Given the description of an element on the screen output the (x, y) to click on. 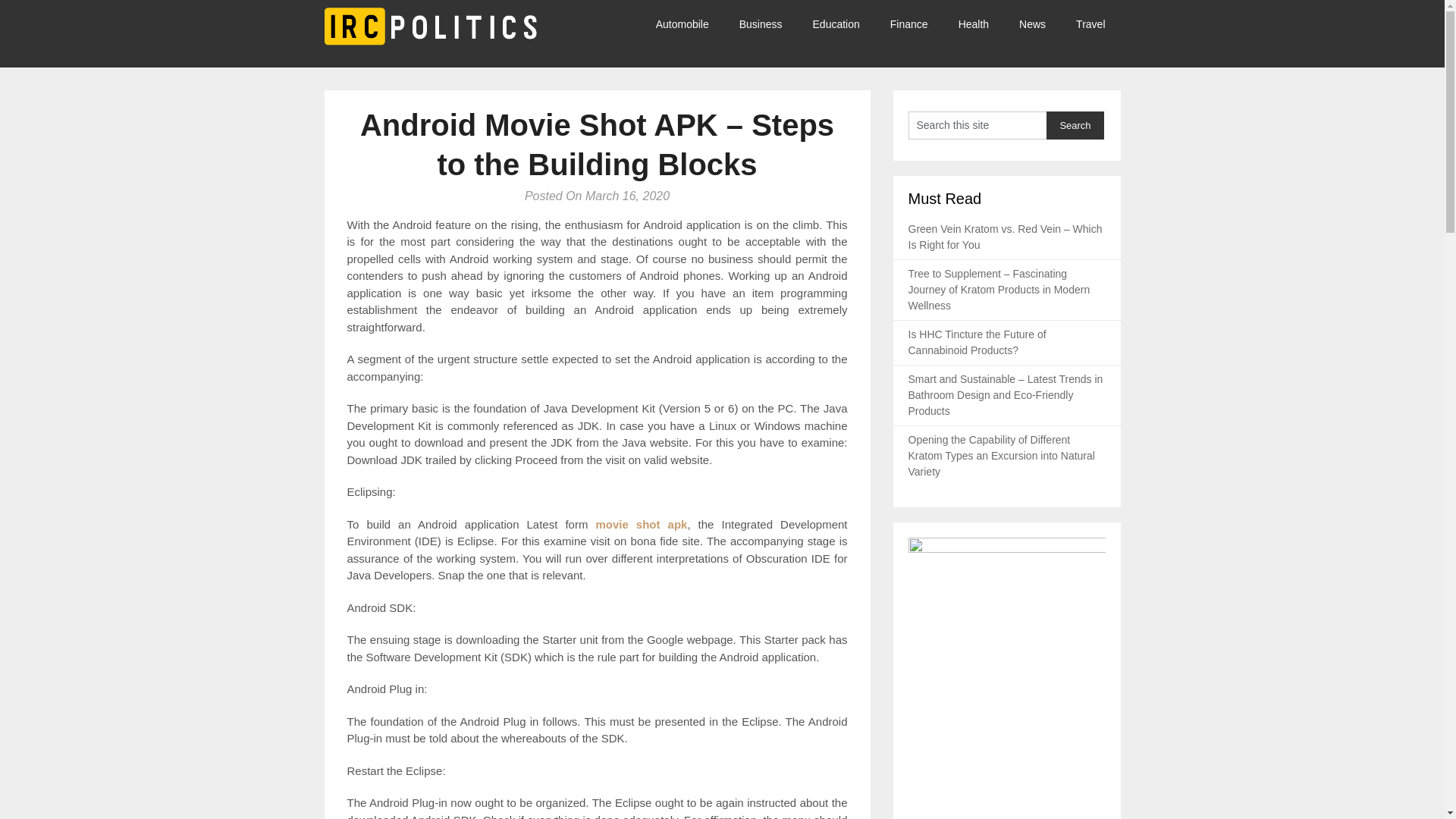
Education (836, 24)
Search (1075, 125)
Is HHC Tincture the Future of Cannabinoid Products? (977, 342)
movie shot apk (641, 522)
Finance (909, 24)
Search (1075, 125)
News (1032, 24)
Automobile (689, 24)
Search this site (977, 125)
